Given the description of an element on the screen output the (x, y) to click on. 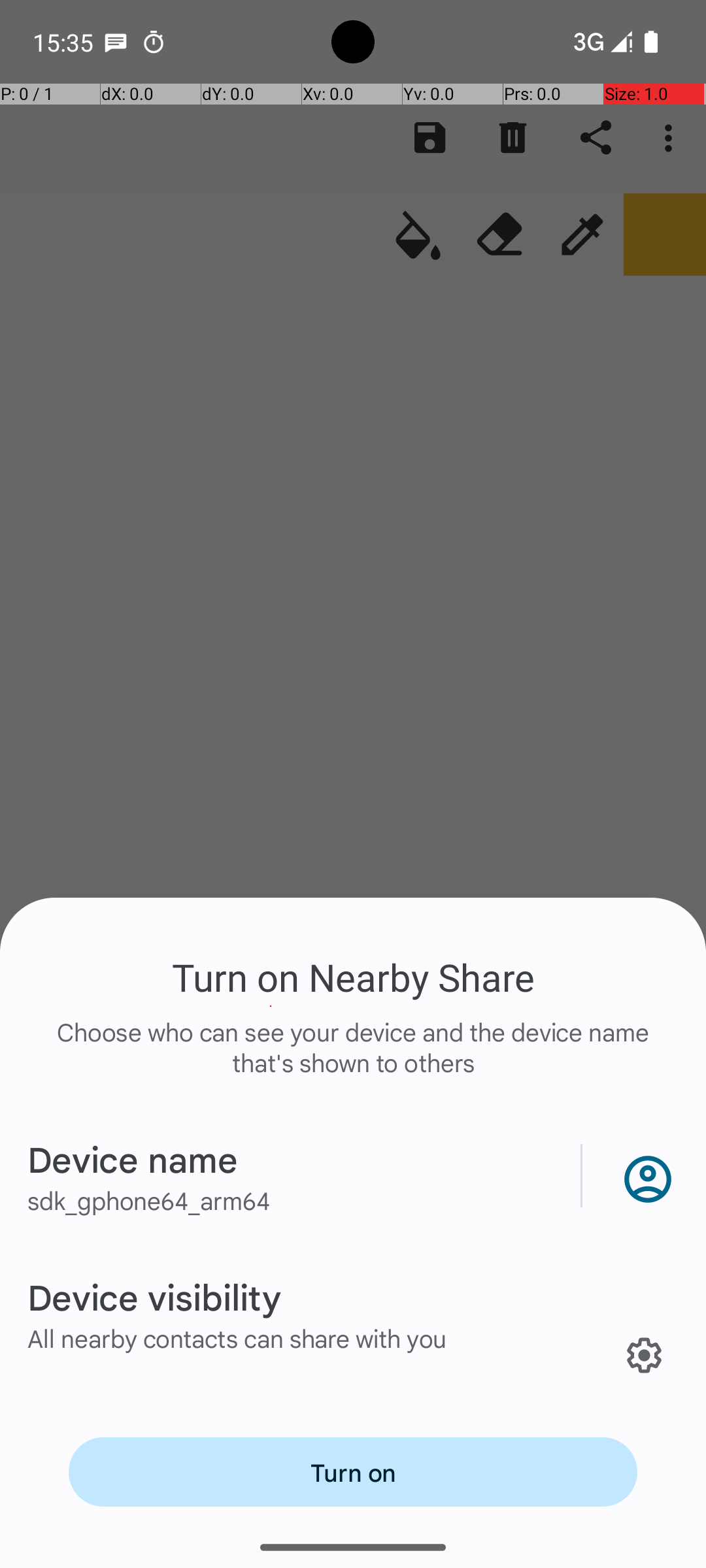
Turn on Nearby Share Element type: android.widget.TextView (353, 976)
Choose who can see your device and the device name that's shown to others Element type: android.widget.TextView (353, 1060)
Turn on Element type: android.widget.Button (352, 1471)
